Given the description of an element on the screen output the (x, y) to click on. 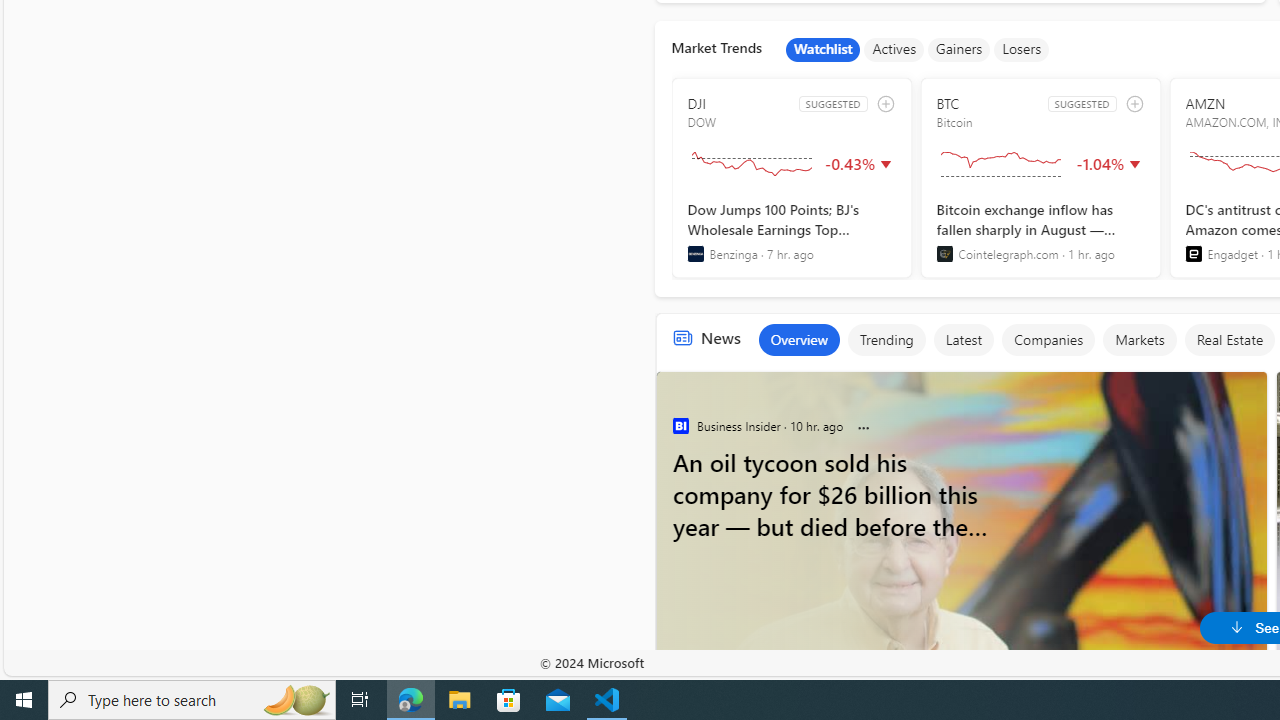
Markets (1139, 339)
Actives (894, 49)
Losers (1021, 49)
Cointelegraph.com (944, 254)
Overview (798, 339)
BTC SUGGESTED Bitcoin (1040, 178)
Gainers (959, 49)
add to watchlist (1133, 103)
